Given the description of an element on the screen output the (x, y) to click on. 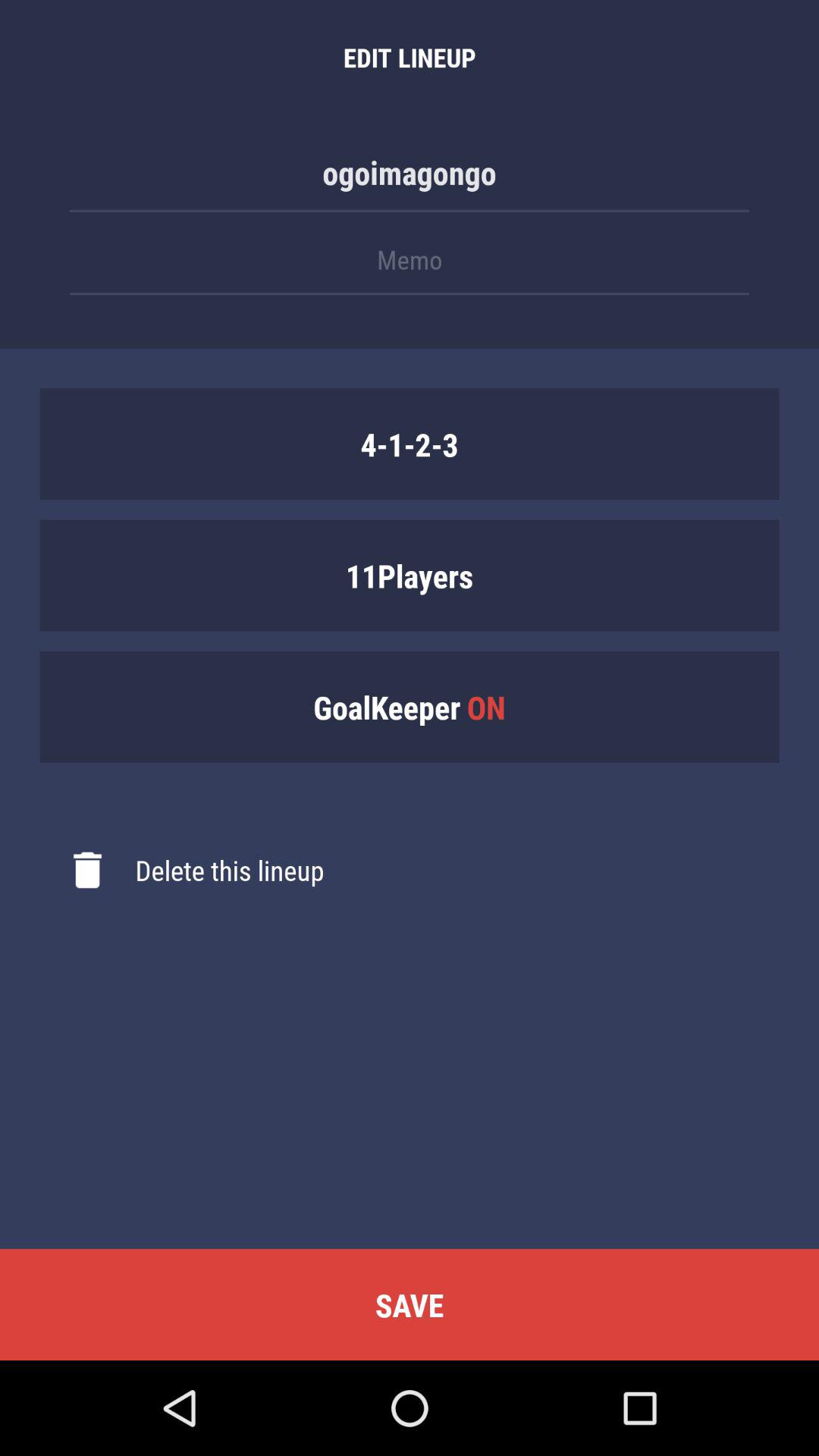
choose ogoimagongo (409, 179)
